Given the description of an element on the screen output the (x, y) to click on. 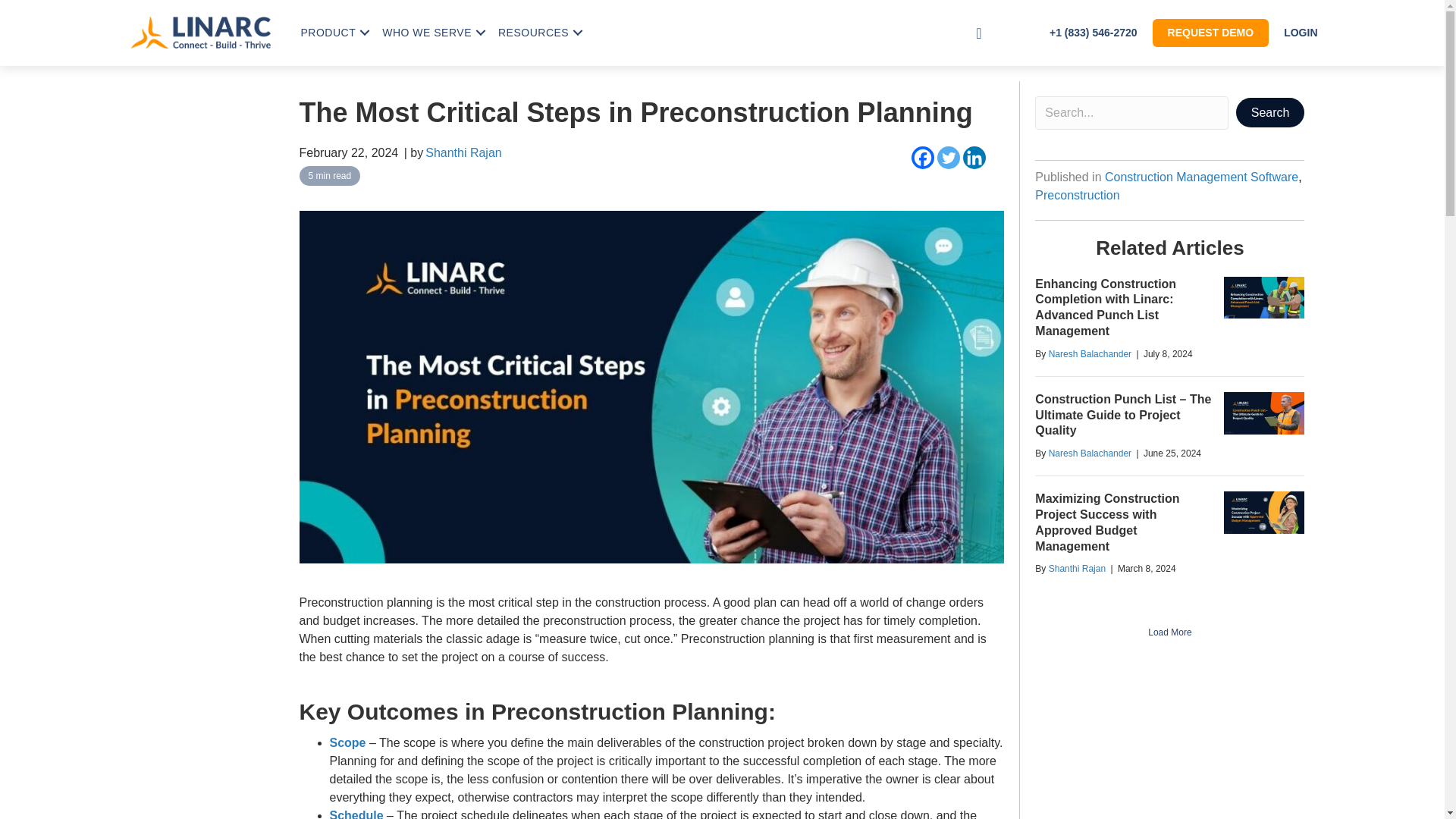
Facebook (922, 157)
WHO WE SERVE (431, 32)
Twitter (948, 157)
linarc-logo (200, 32)
RESOURCES (538, 32)
PRODUCT (333, 32)
